Given the description of an element on the screen output the (x, y) to click on. 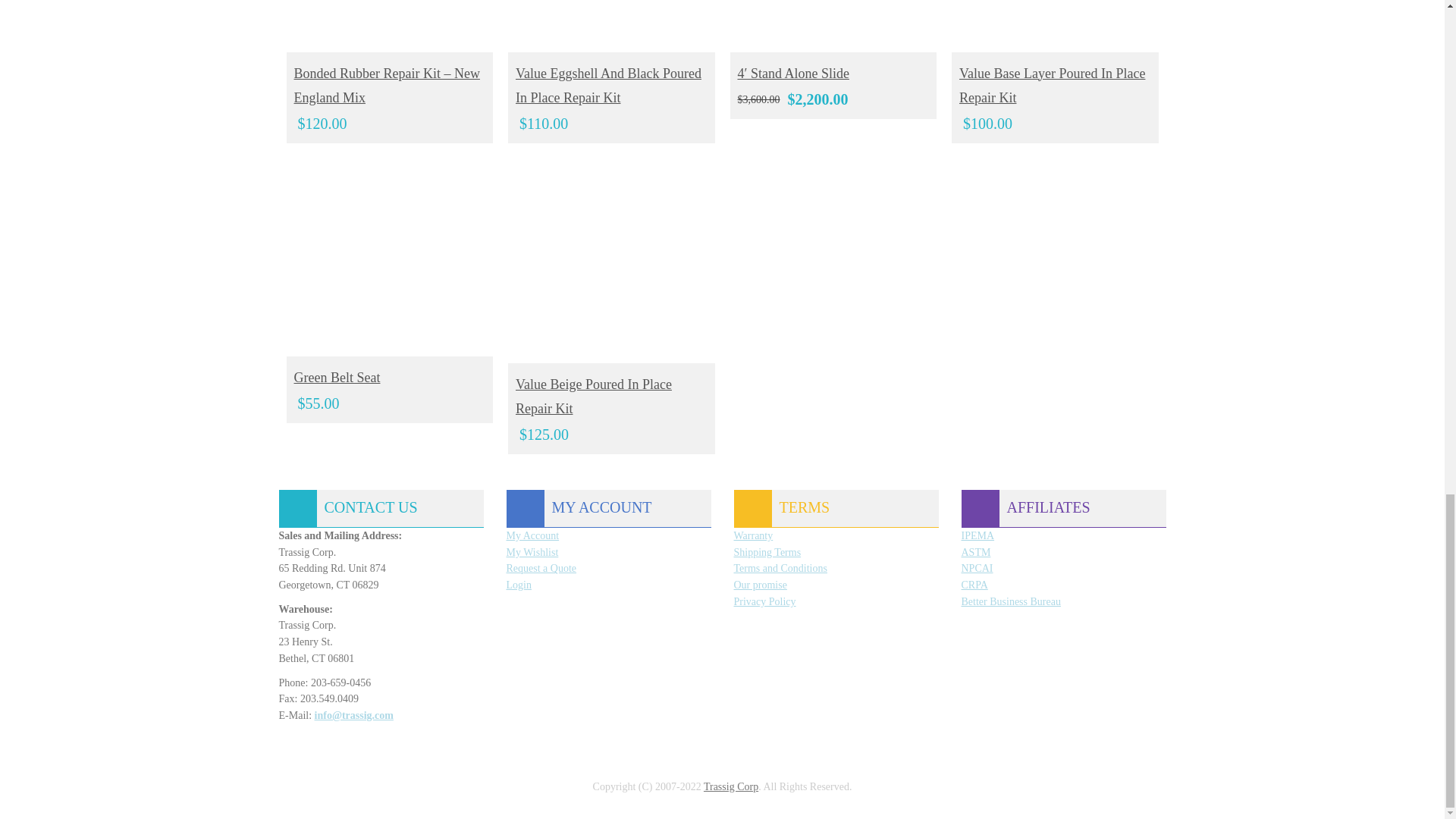
Green Belt Seat (389, 255)
Green Belt Seat (409, 275)
Value Beige Poured In Place Repair Kit (611, 258)
